Given the description of an element on the screen output the (x, y) to click on. 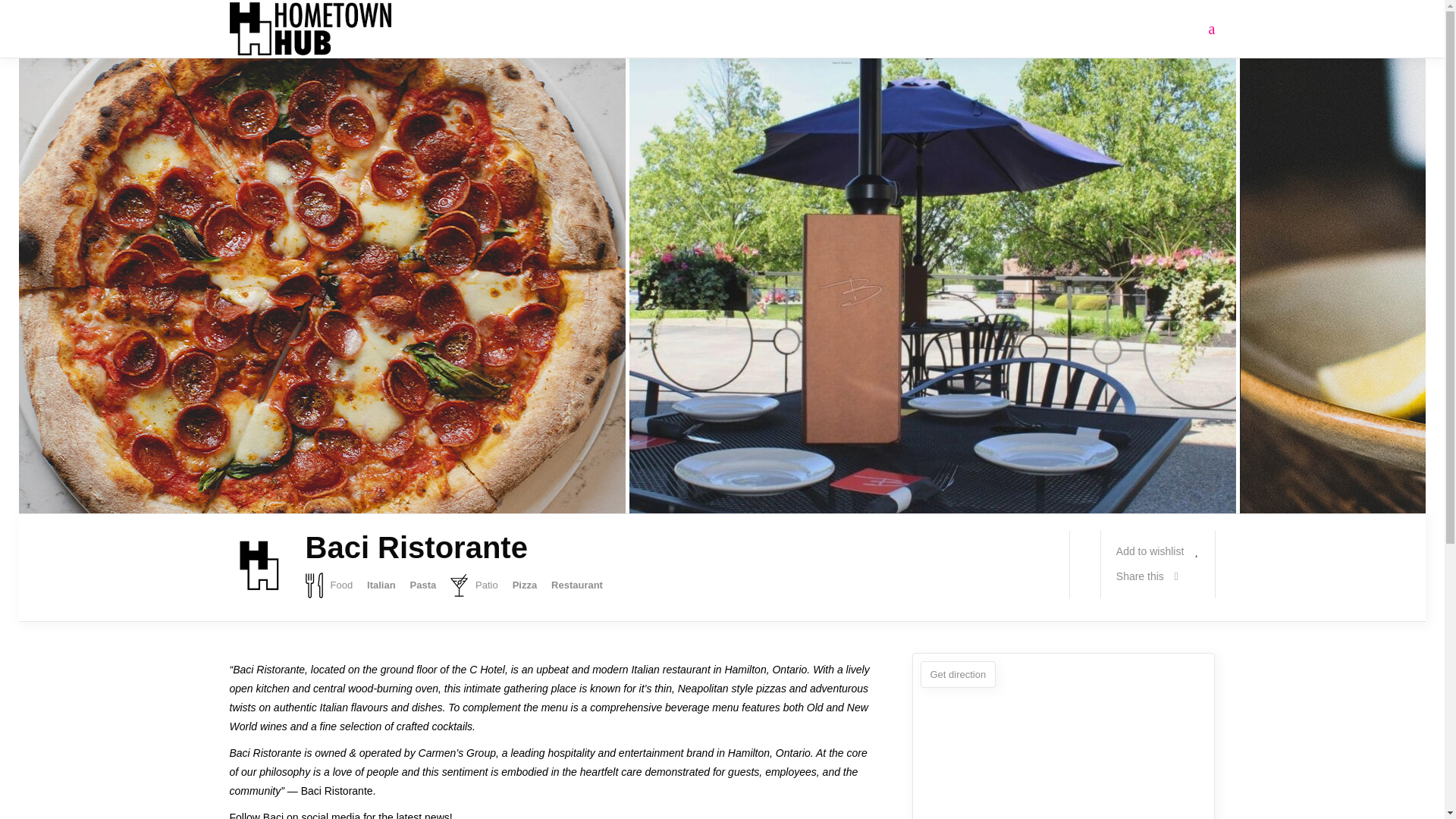
Patio (473, 585)
Share this (1146, 576)
Food (328, 585)
Restaurant (576, 585)
Italian (381, 585)
Pizza (524, 585)
Pasta (422, 585)
Add to wishlist (1157, 551)
